Given the description of an element on the screen output the (x, y) to click on. 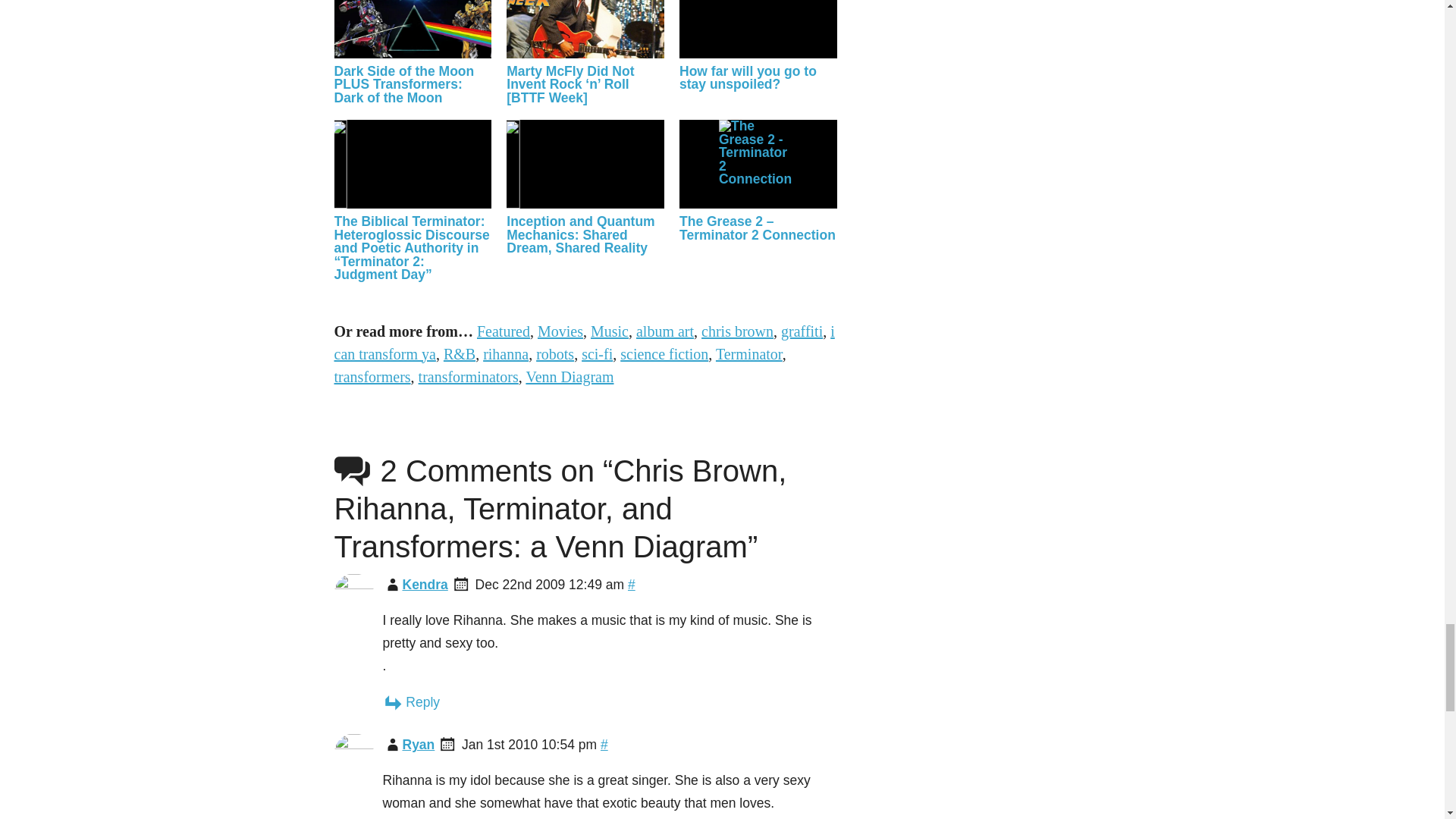
How far will you go to stay unspoiled? (758, 45)
Music (609, 330)
Featured (503, 330)
album art (665, 330)
graffiti (801, 330)
Movies (560, 330)
Dark Side of the Moon PLUS Transformers: Dark of the Moon (412, 52)
i can transform ya (583, 342)
chris brown (737, 330)
